Given the description of an element on the screen output the (x, y) to click on. 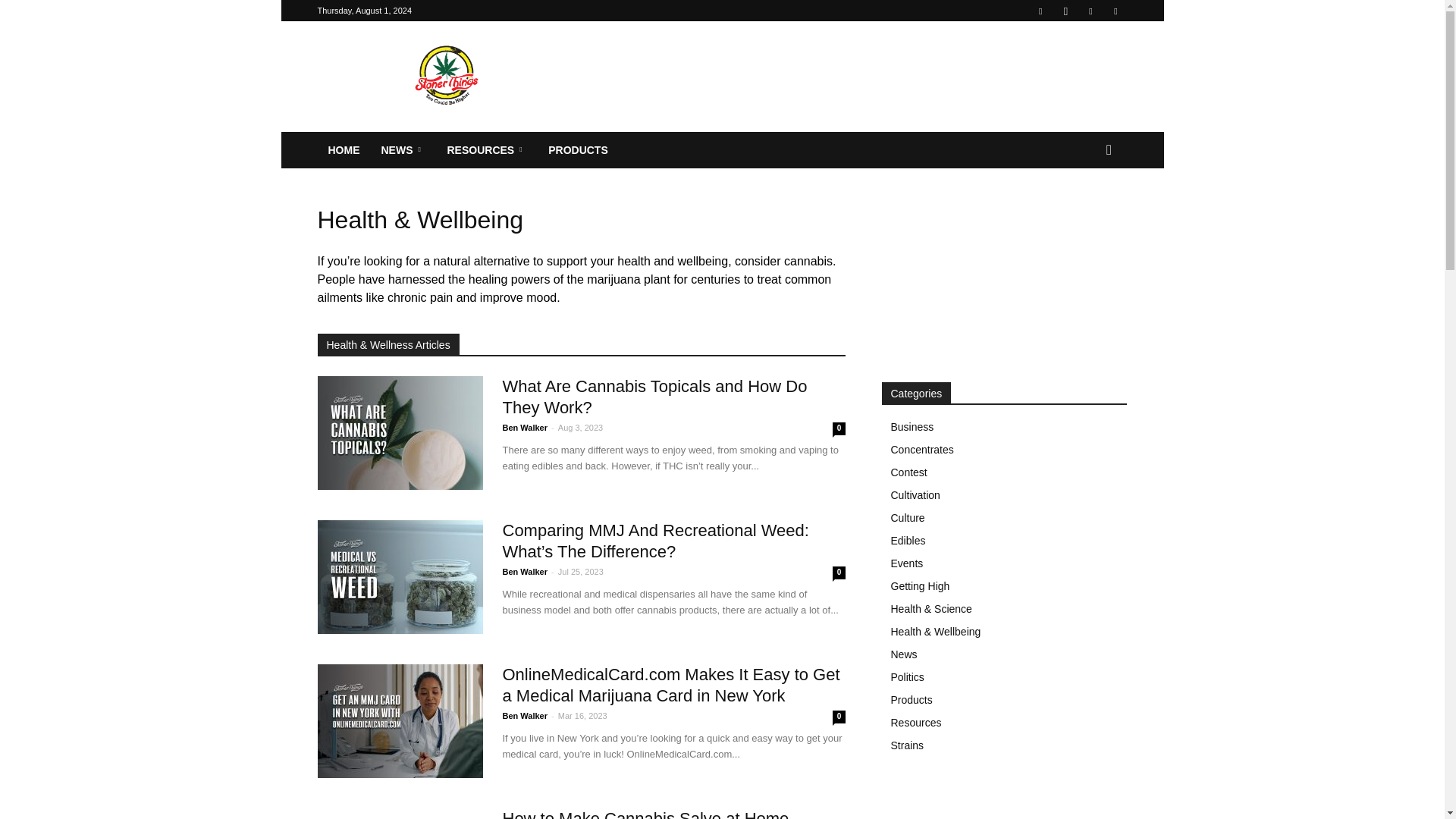
Twitter (1090, 10)
HOME (343, 149)
NEWS (402, 149)
Instagram (1065, 10)
Youtube (1114, 10)
Facebook (1040, 10)
